Given the description of an element on the screen output the (x, y) to click on. 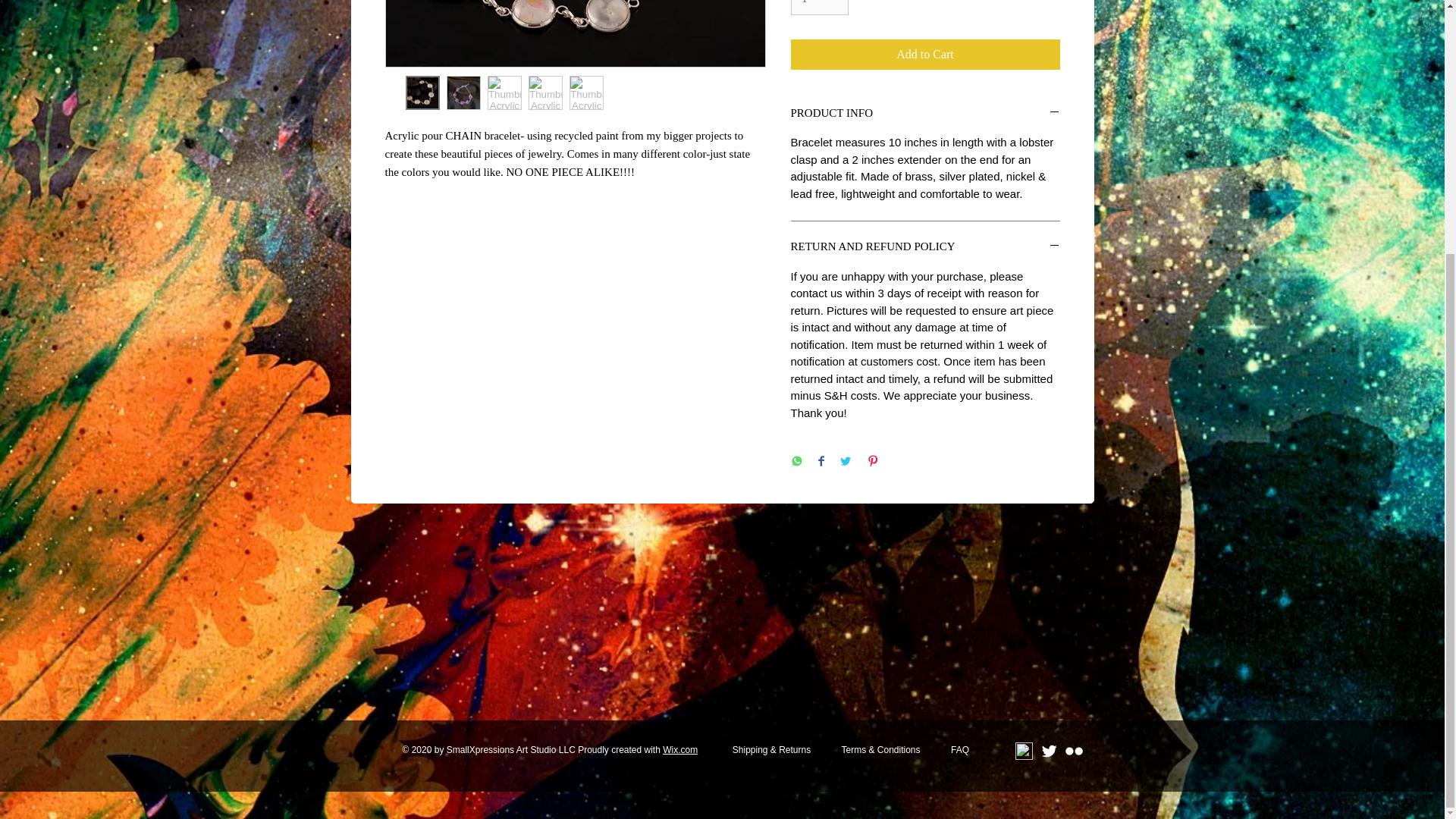
Add to Cart (924, 54)
PRODUCT INFO (924, 114)
RETURN AND REFUND POLICY (924, 247)
FAQ (960, 750)
1 (818, 7)
Wix.com (679, 749)
